Given the description of an element on the screen output the (x, y) to click on. 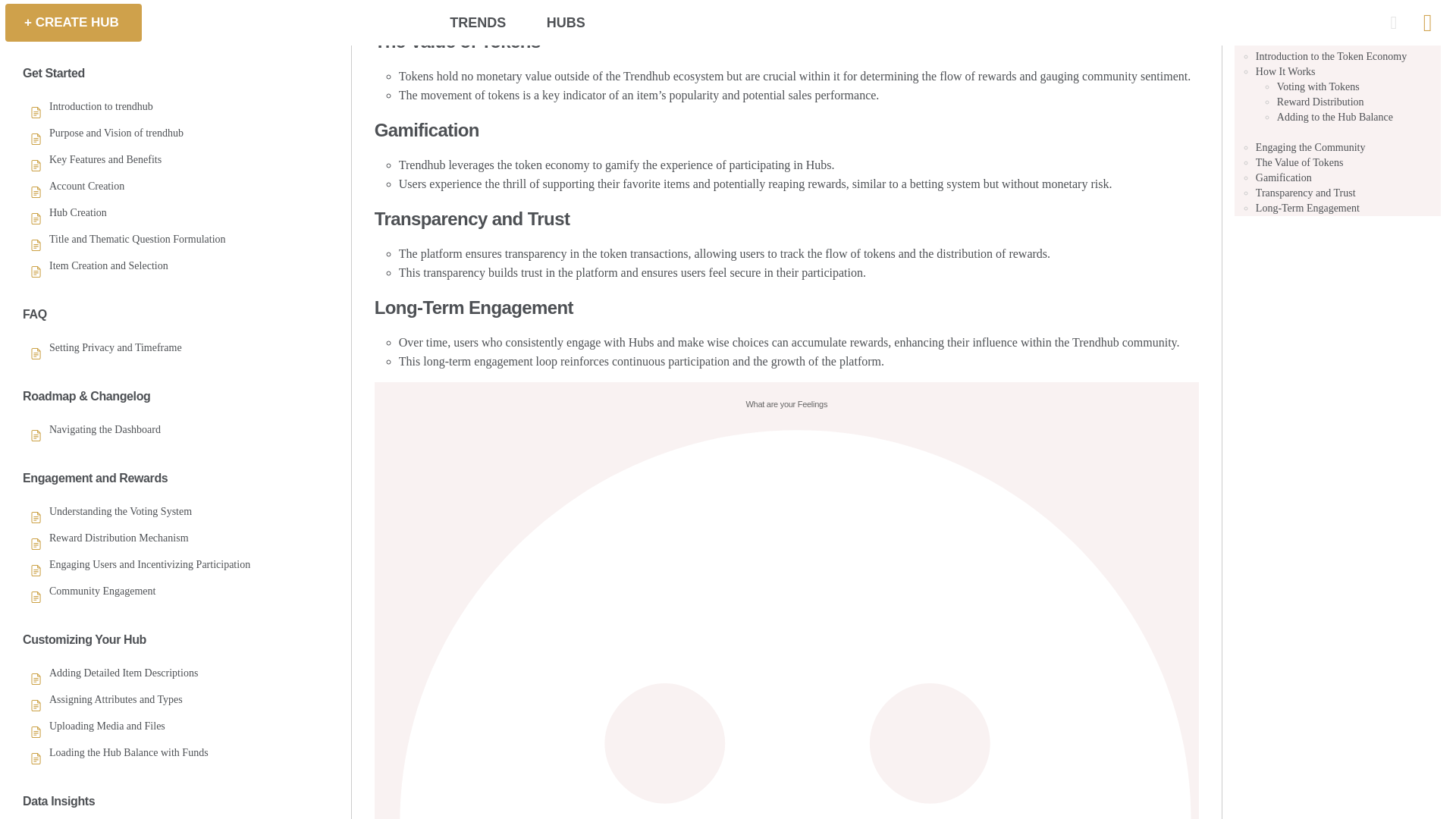
Insights for Individuals and Businesses (132, 300)
Assigning Attributes and Types (116, 139)
Enhancing Product Management through User Feedback (169, 327)
Utilizing Data for Trend Analysis on Trendhub (148, 274)
Engaging Users and Incentivizing Participation (149, 6)
Uploading Media and Files (107, 166)
Community Engagement (102, 30)
Adding Detailed Item Descriptions (123, 112)
Loading the Hub Balance with Funds (128, 192)
